Given the description of an element on the screen output the (x, y) to click on. 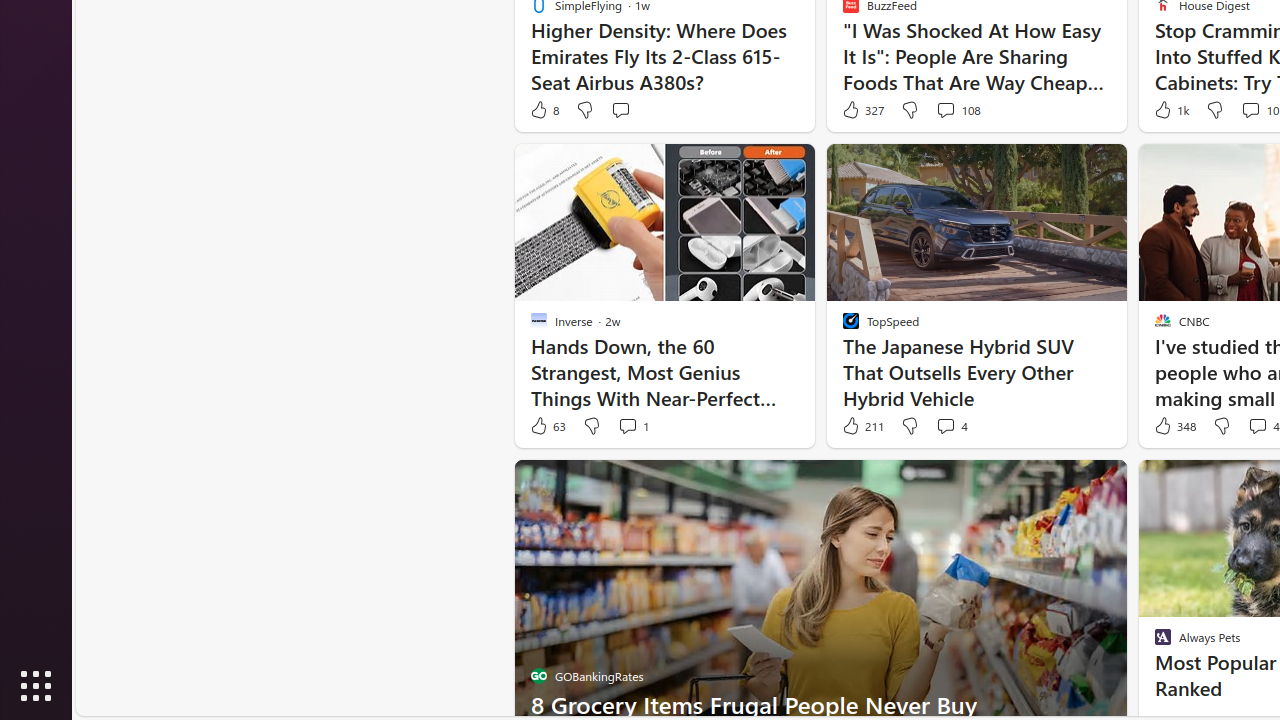
211 Like Element type: toggle-button (862, 426)
View comments 1 Comment Element type: link (633, 426)
View comments 108 Comment Element type: link (958, 110)
Start the conversation Element type: push-button (620, 110)
348 Like Element type: toggle-button (1174, 426)
